Given the description of an element on the screen output the (x, y) to click on. 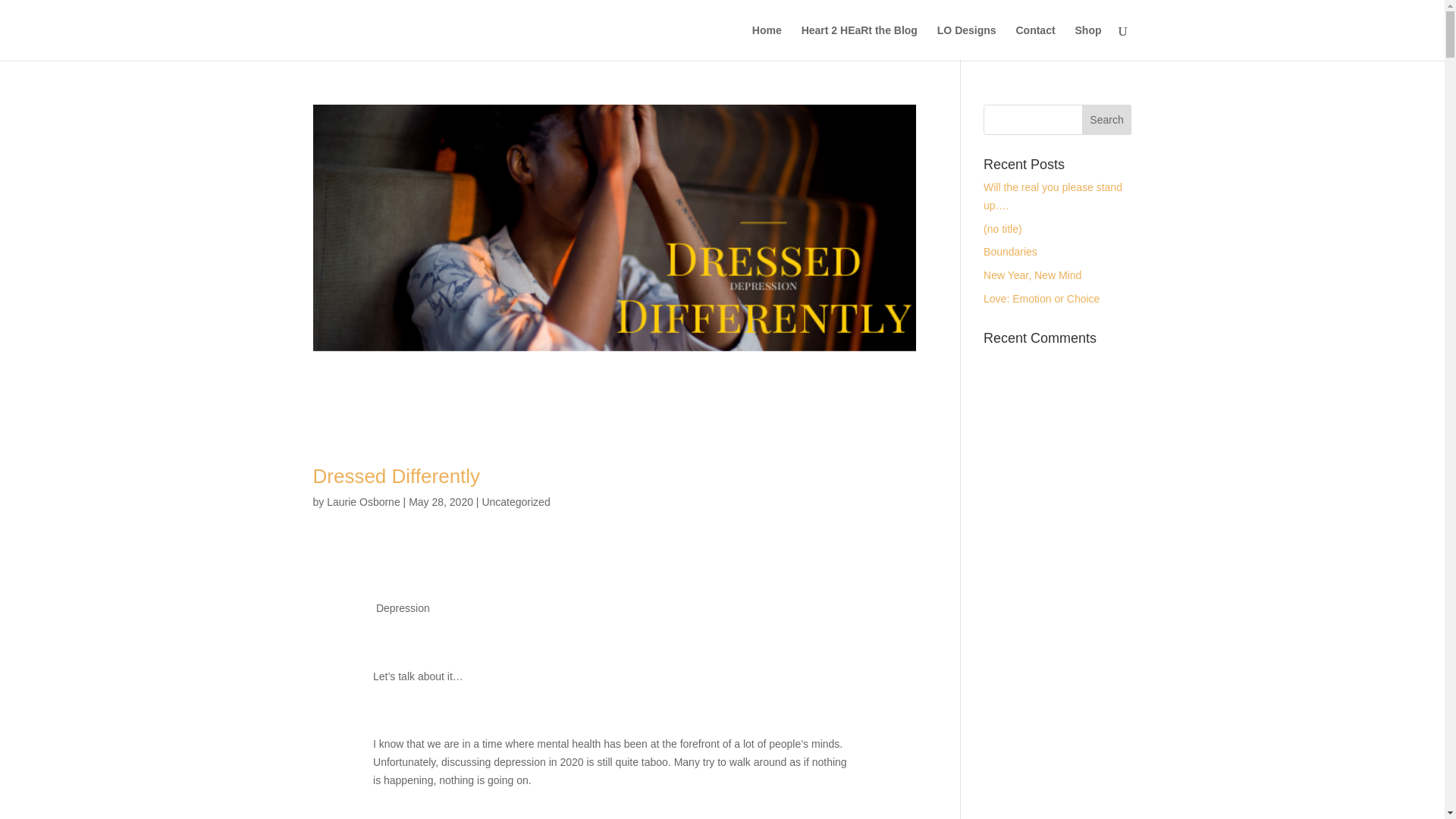
Search (1106, 119)
Posts by Laurie Osborne (363, 501)
Heart 2 HEaRt the Blog (859, 42)
Contact (1034, 42)
New Year, New Mind (1032, 275)
Search (1106, 119)
Uncategorized (515, 501)
Boundaries (1010, 251)
Laurie Osborne (363, 501)
LO Designs (966, 42)
